Given the description of an element on the screen output the (x, y) to click on. 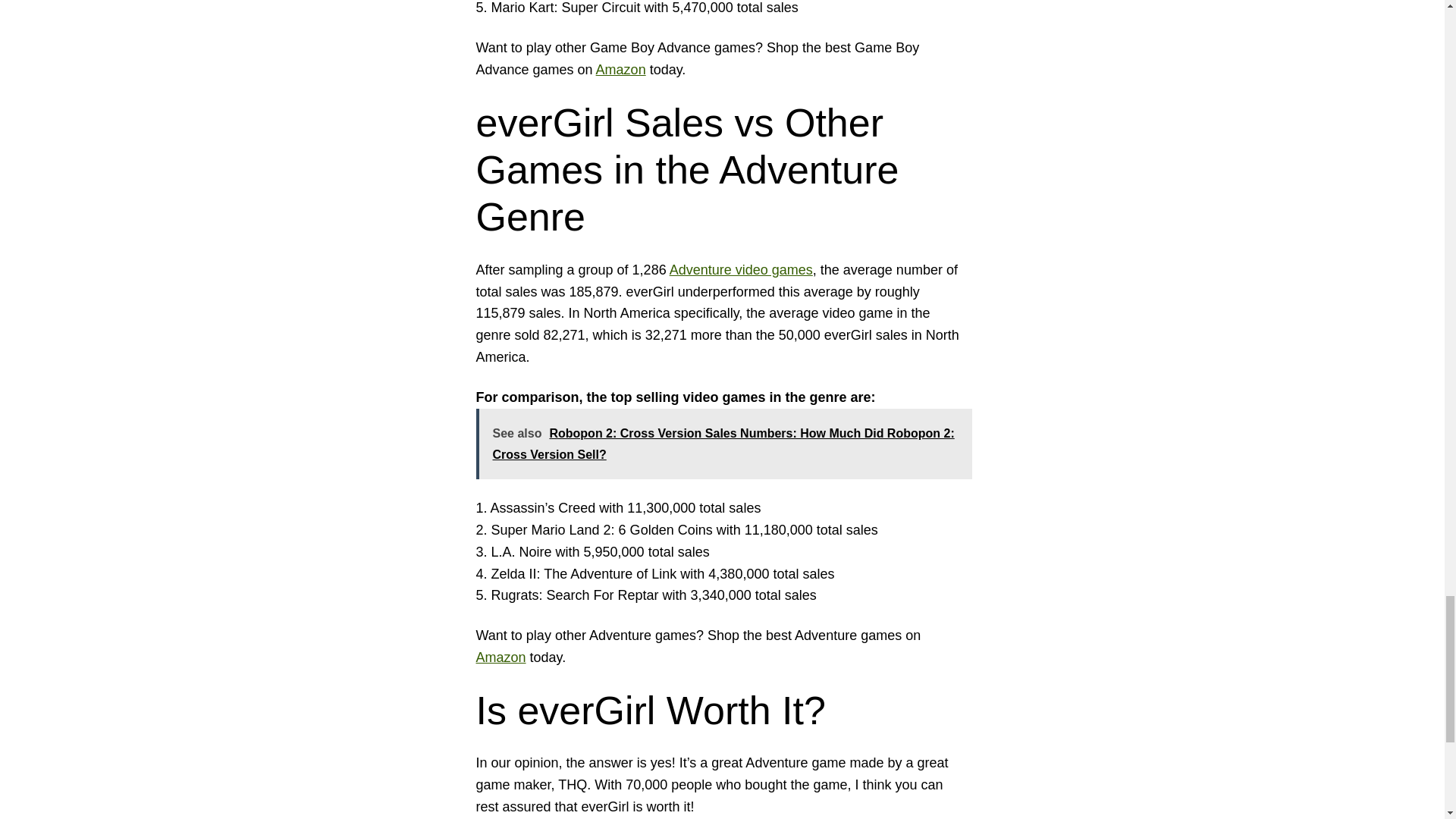
Adventure video games (740, 269)
Amazon (620, 69)
Amazon (500, 657)
